Given the description of an element on the screen output the (x, y) to click on. 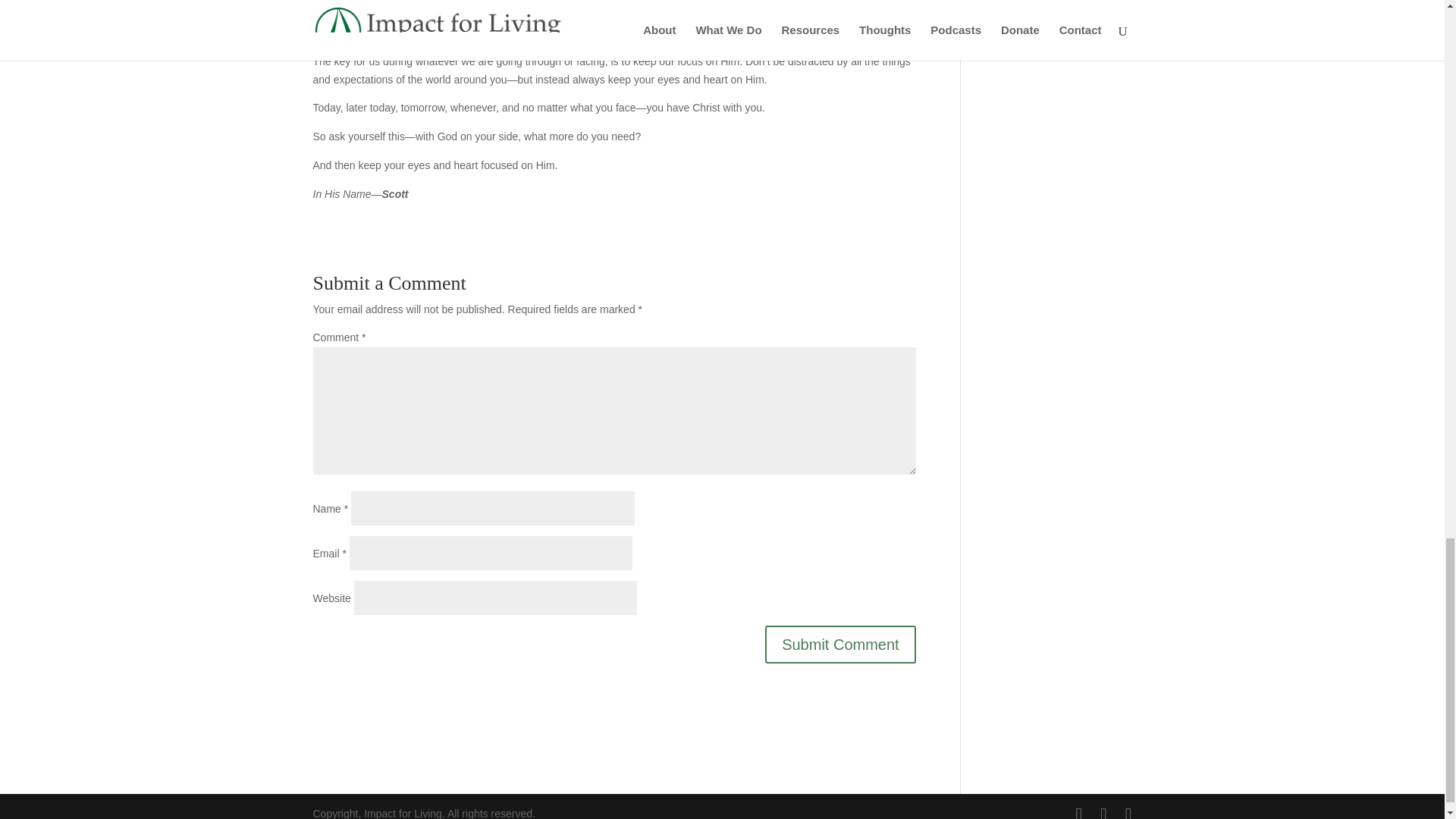
Submit Comment (840, 644)
Submit Comment (840, 644)
